Given the description of an element on the screen output the (x, y) to click on. 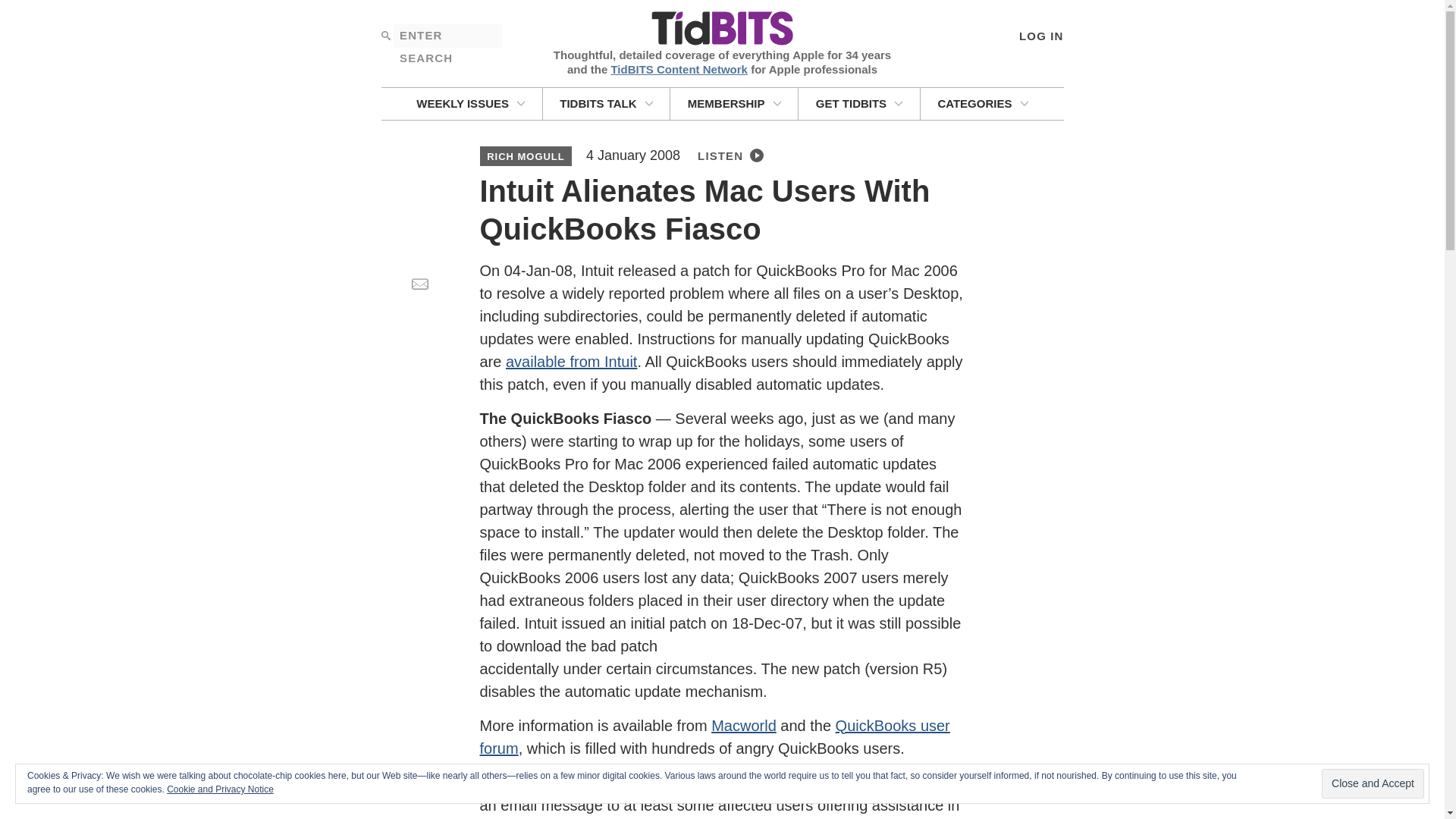
TidBITS Content Network (679, 68)
MEMBERSHIP (733, 103)
LOG IN (1040, 34)
GET TIDBITS (858, 103)
TidBITS (721, 28)
WEEKLY ISSUES (469, 103)
Search (385, 35)
Close and Accept (1372, 783)
TIDBITS TALK (606, 103)
Click to email a link to a friend (419, 284)
